Given the description of an element on the screen output the (x, y) to click on. 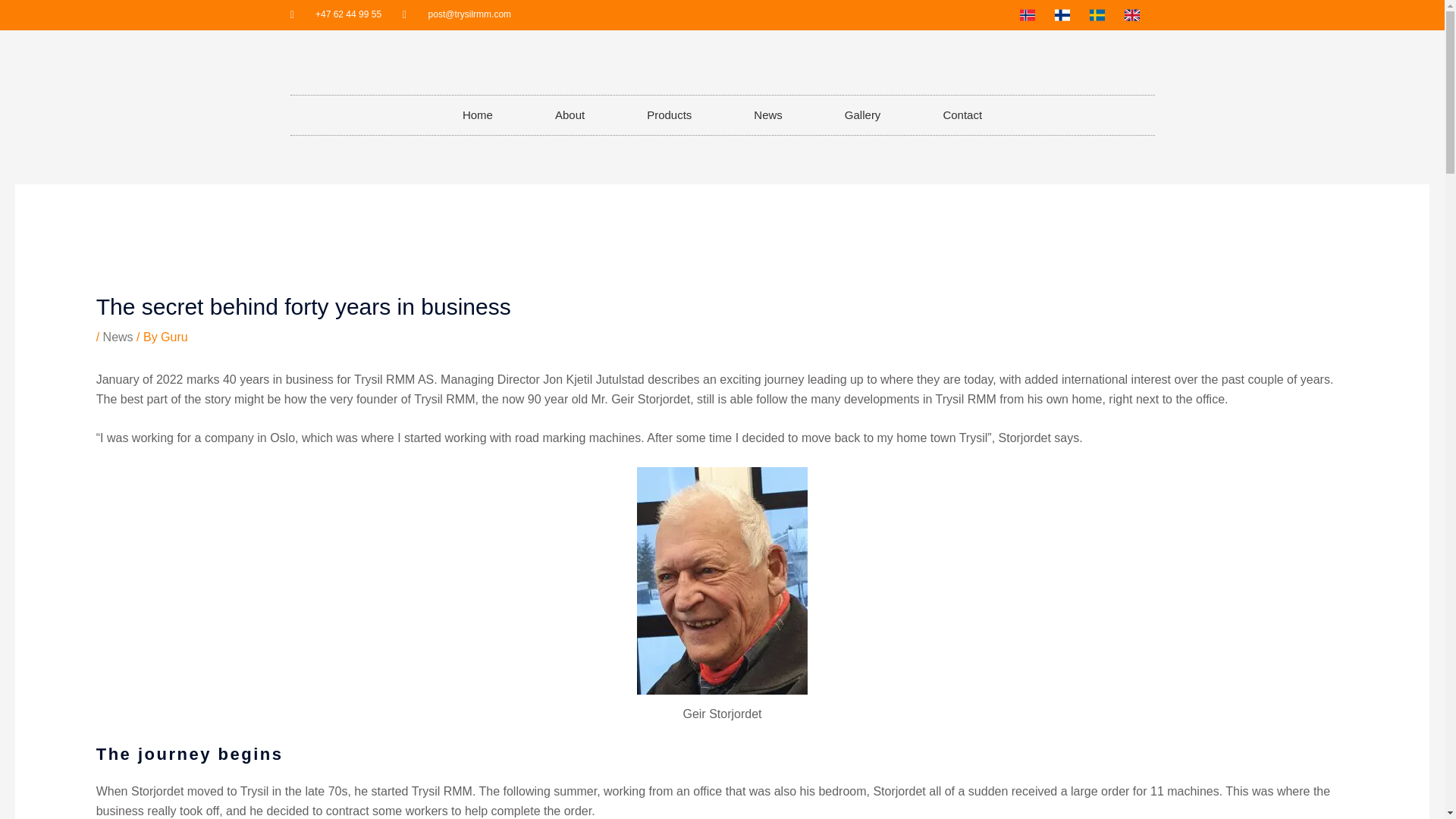
Contact (962, 115)
View all posts by Guru (173, 336)
Products (668, 115)
News (767, 115)
About (569, 115)
Home (477, 115)
Gallery (862, 115)
